Given the description of an element on the screen output the (x, y) to click on. 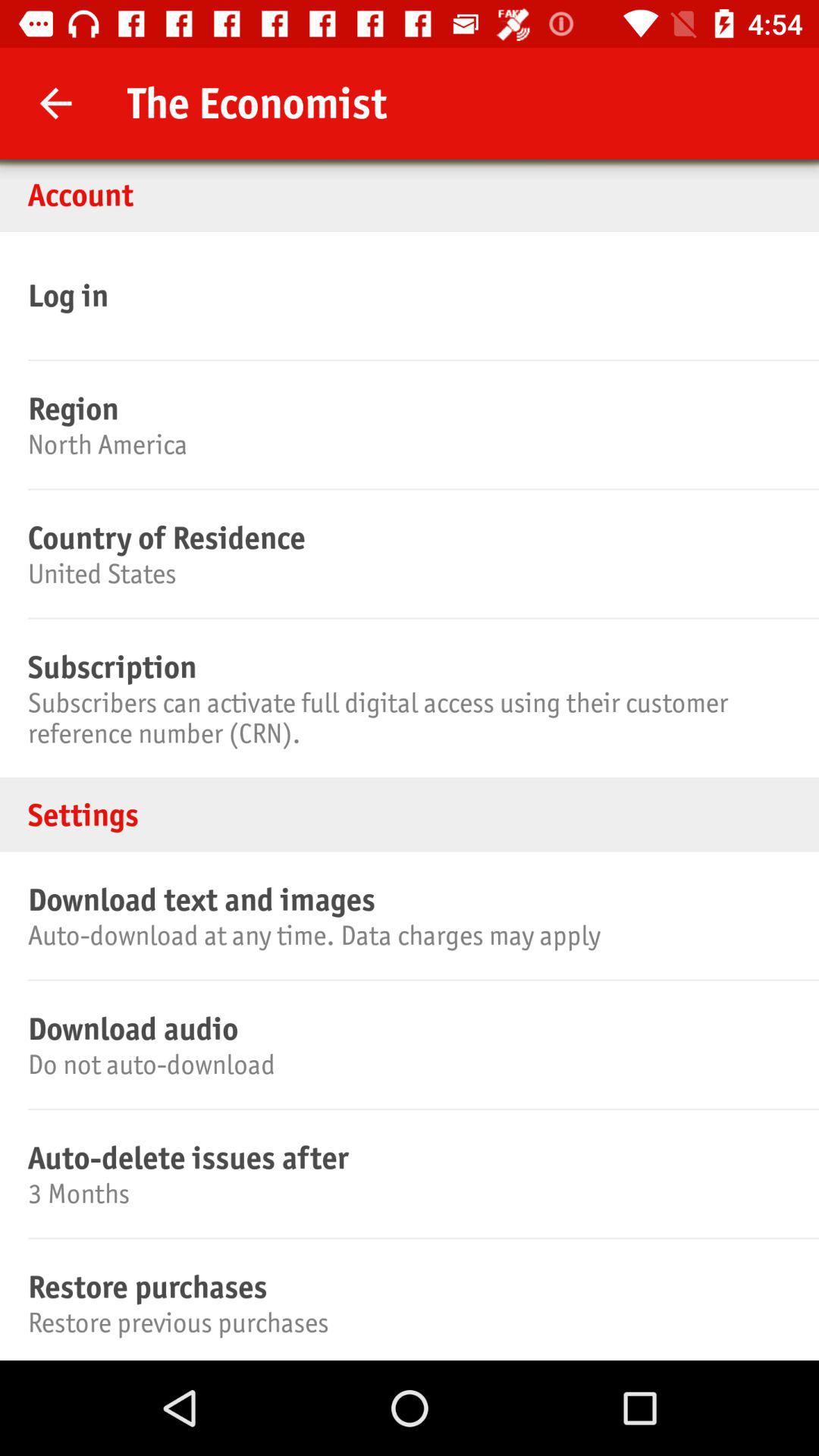
swipe to the country of residence item (407, 537)
